Given the description of an element on the screen output the (x, y) to click on. 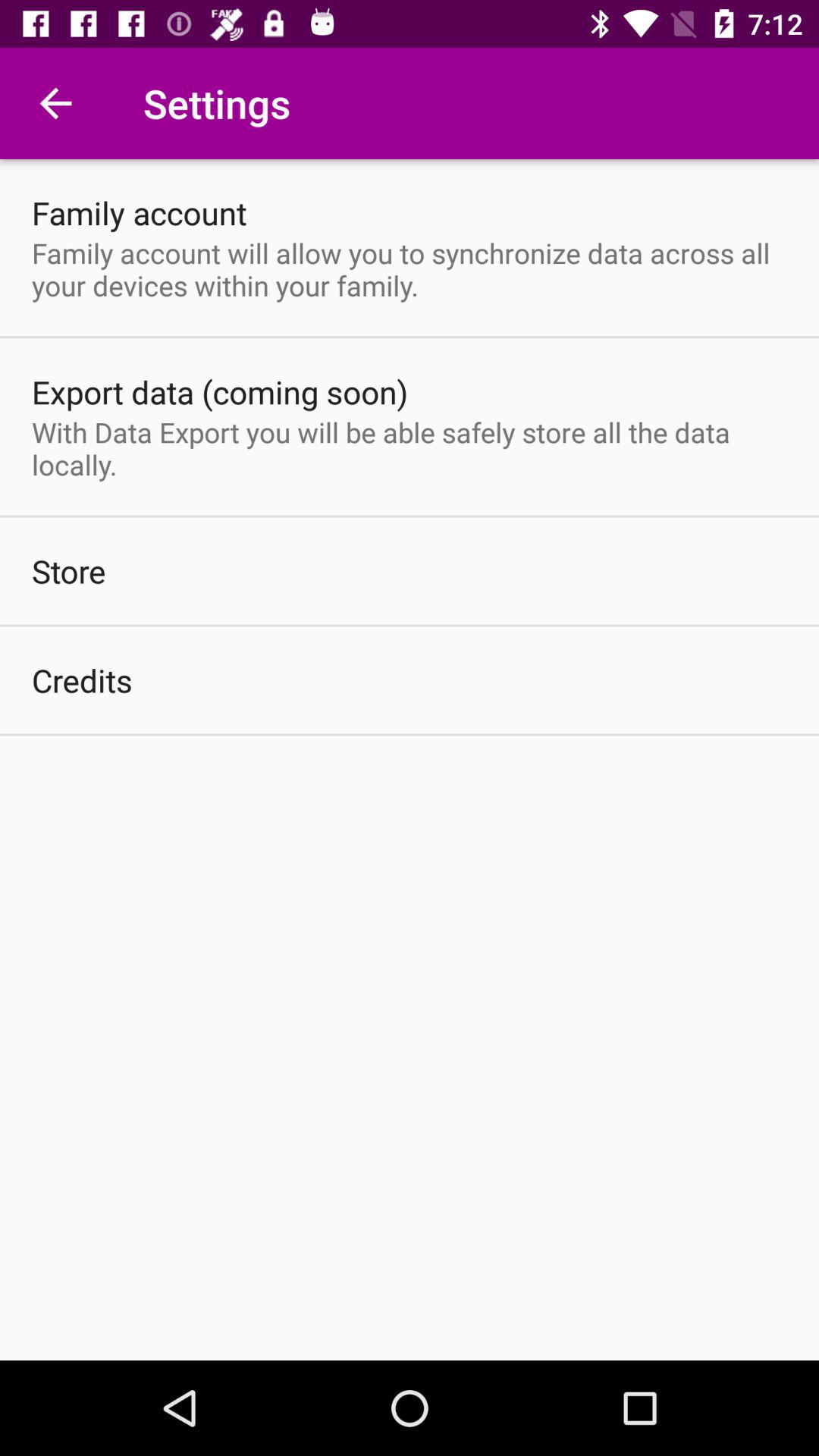
launch credits icon (81, 679)
